Given the description of an element on the screen output the (x, y) to click on. 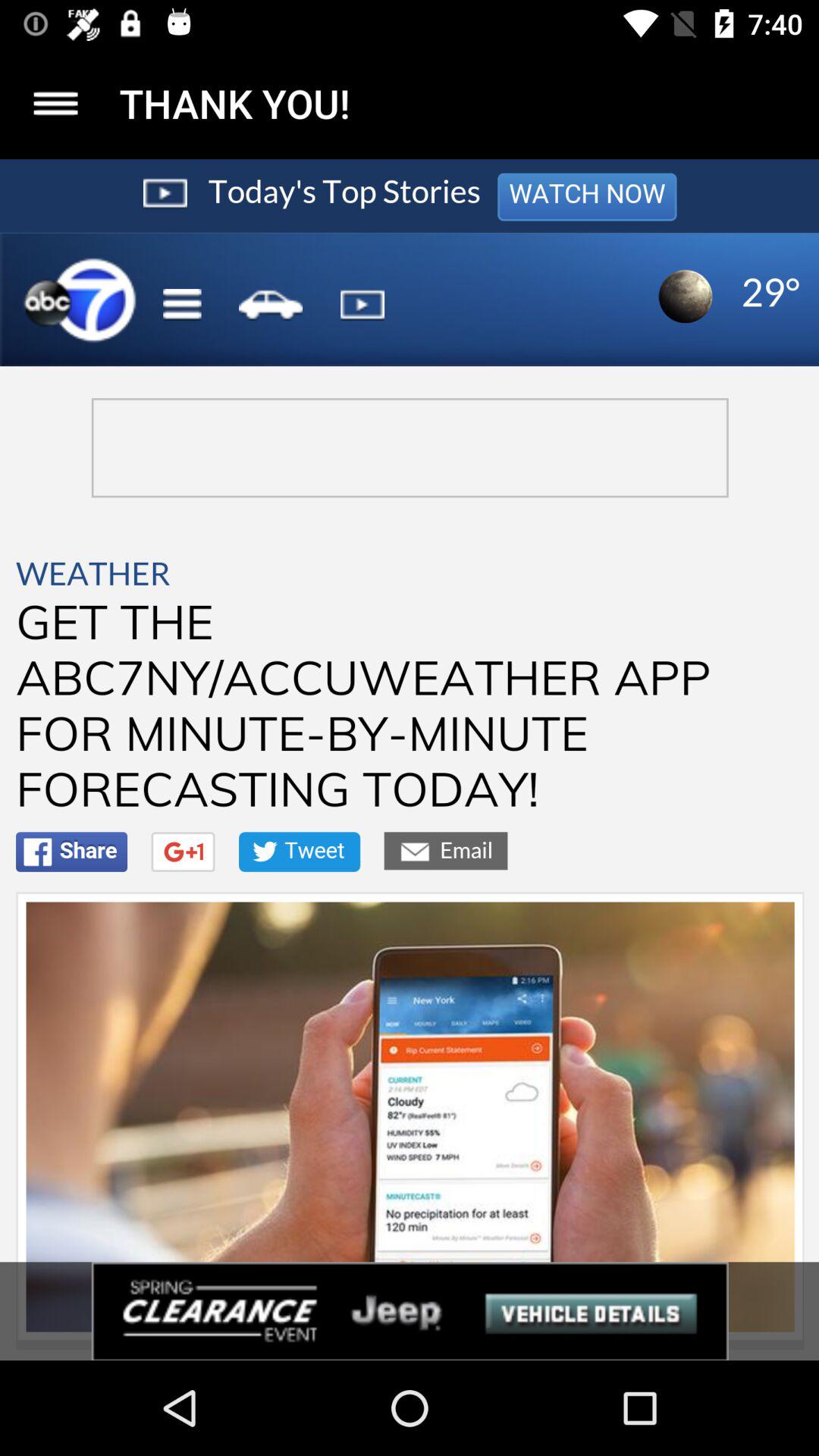
option the article (55, 103)
